Given the description of an element on the screen output the (x, y) to click on. 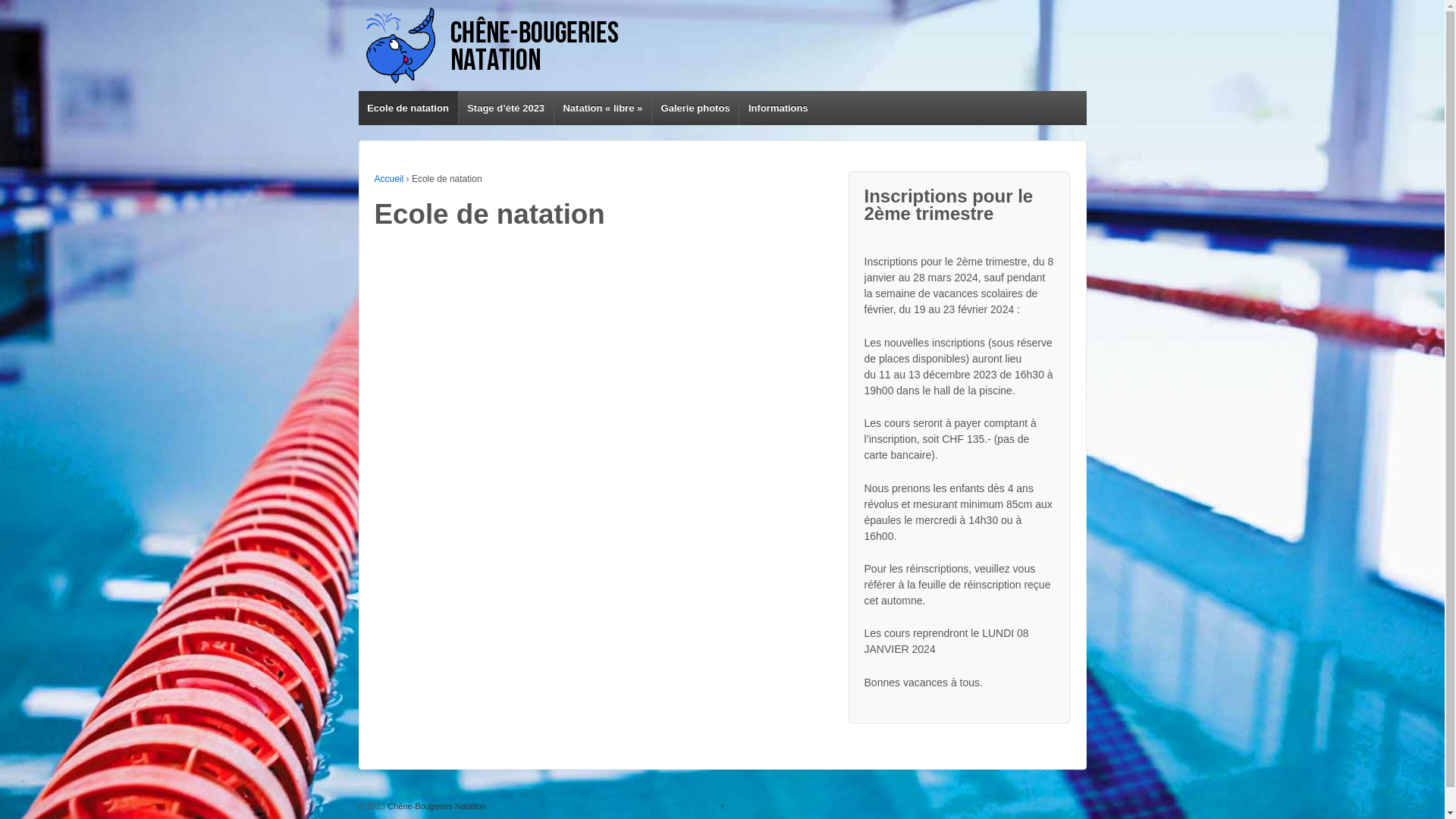
Accueil Element type: text (389, 178)
Informations Element type: text (777, 108)
Galerie photos Element type: text (694, 108)
Ecole de natation Element type: text (407, 108)
